Given the description of an element on the screen output the (x, y) to click on. 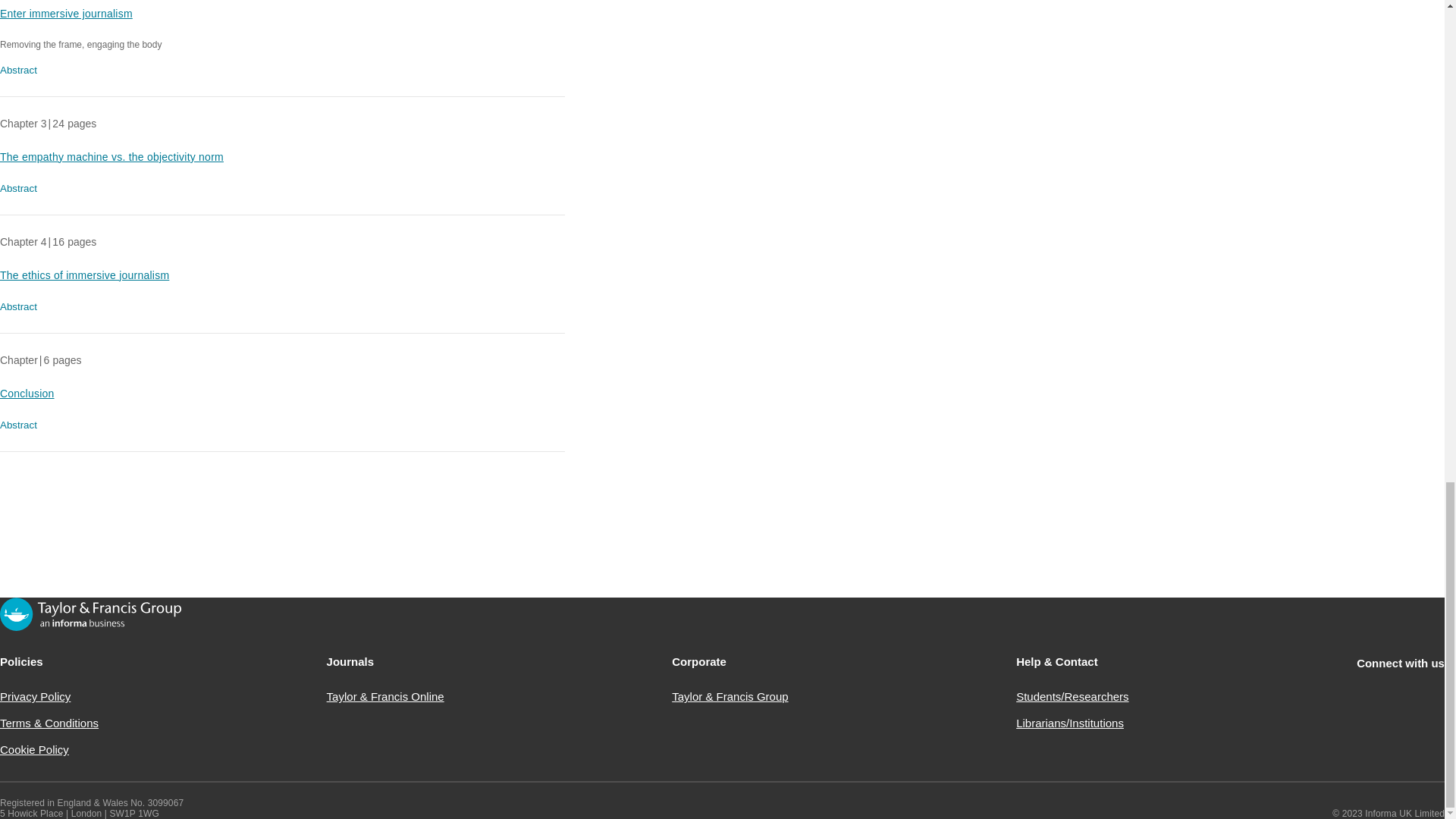
Privacy Policy (34, 696)
The ethics of immersive journalism (84, 275)
Conclusion (27, 393)
Enter immersive journalism (66, 13)
Abstract (21, 187)
Abstract (21, 424)
Abstract (21, 305)
The empathy machine vs. the objectivity norm (112, 156)
Abstract (21, 69)
Cookie Policy (34, 749)
